Given the description of an element on the screen output the (x, y) to click on. 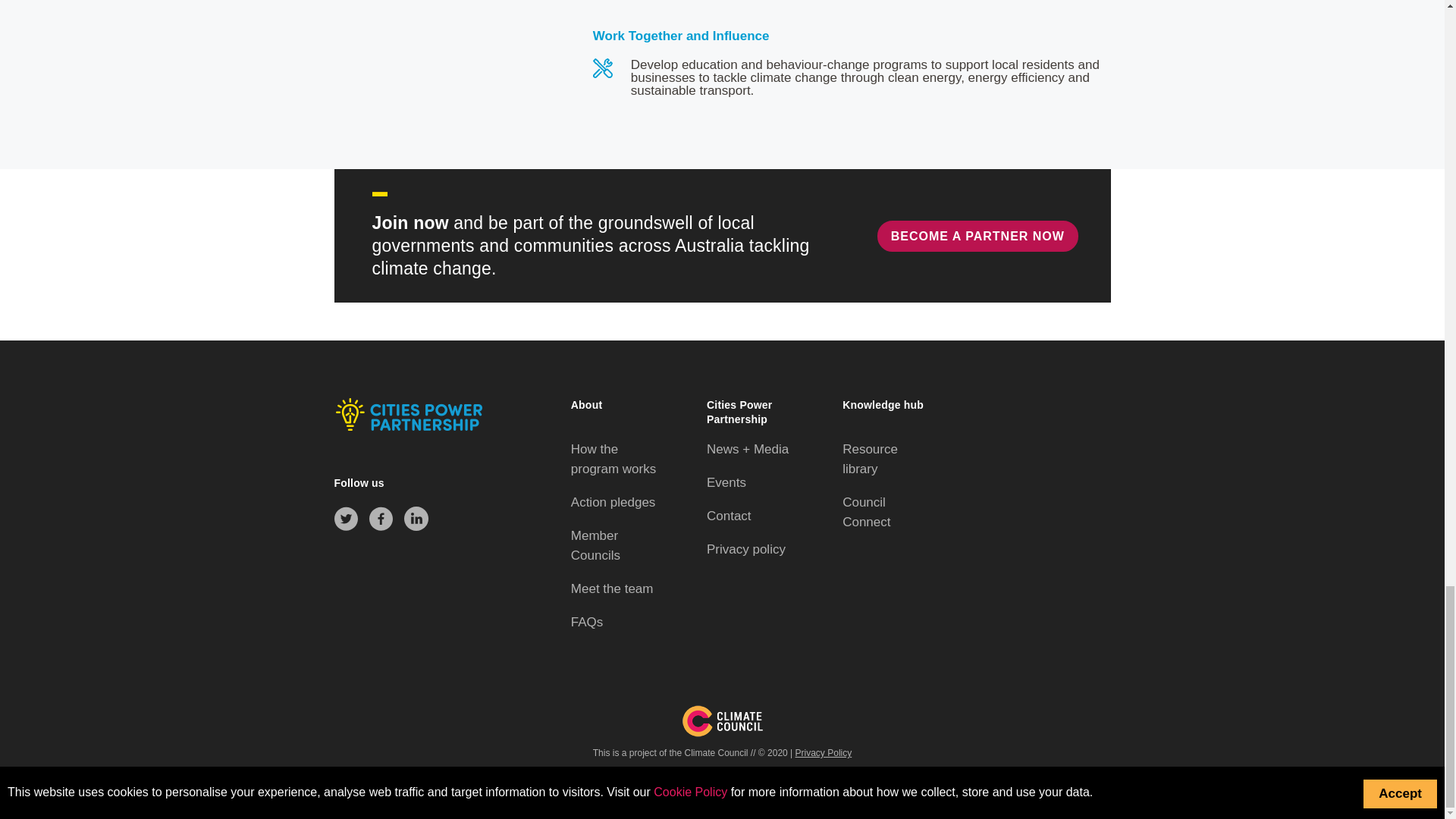
footer-logo.cc (721, 720)
How the program works (613, 458)
Meet the team (611, 588)
Events (725, 482)
BECOME A PARTNER NOW (977, 235)
Privacy Policy (822, 752)
Member Councils (595, 545)
Member Councils (595, 545)
Resource library (870, 458)
Council Connect (866, 512)
News (747, 449)
Events (725, 482)
Action pledges (613, 502)
Privacy policy (746, 549)
Resource library (870, 458)
